Given the description of an element on the screen output the (x, y) to click on. 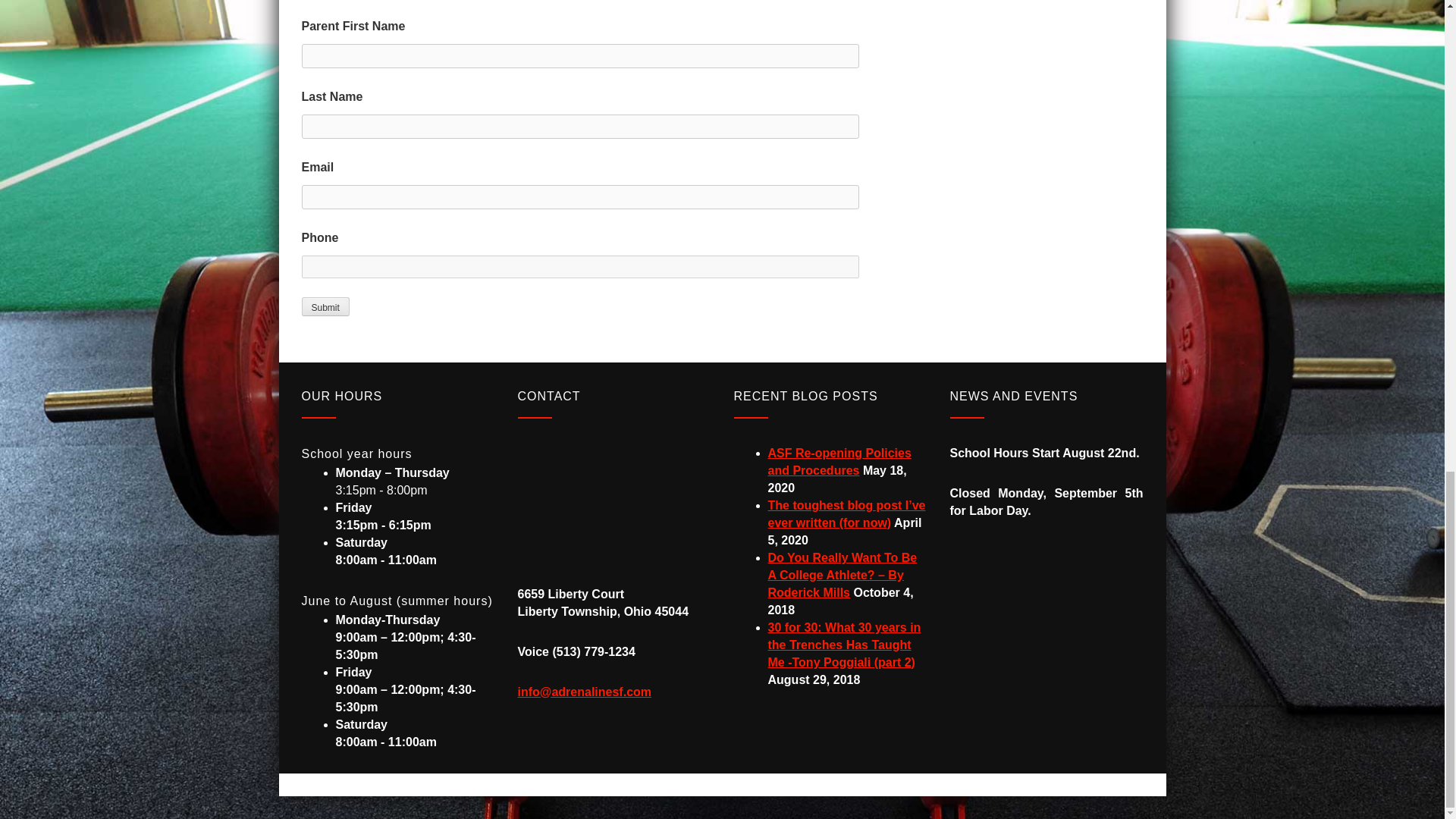
Submit (325, 306)
